Given the description of an element on the screen output the (x, y) to click on. 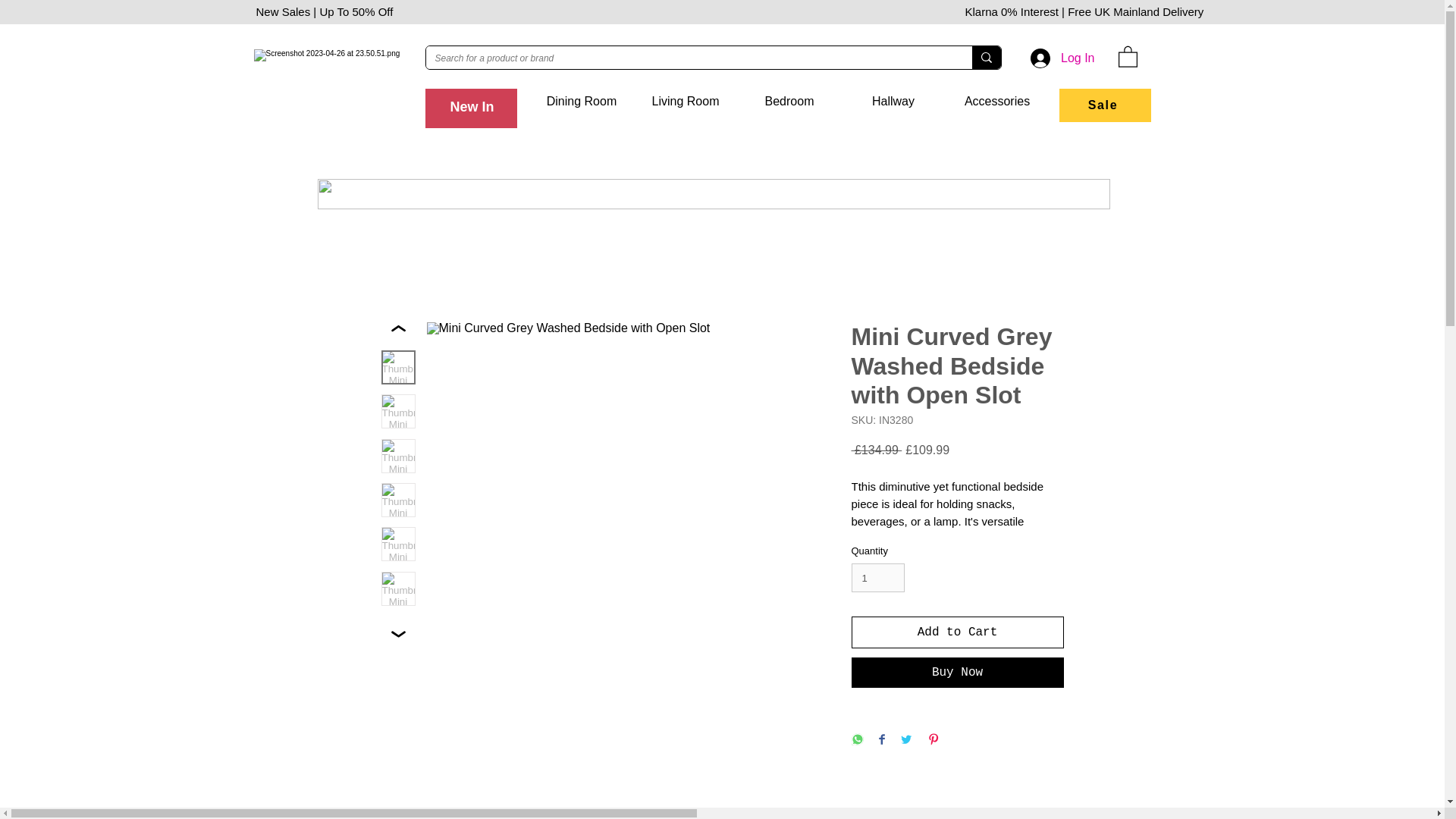
Bedroom (788, 100)
Sale (1101, 100)
Log In (1062, 58)
Dining Room (581, 100)
Living Room (685, 100)
Home (477, 100)
1 (877, 577)
Sale (1103, 105)
Accessories (996, 100)
Hallway (892, 100)
